Given the description of an element on the screen output the (x, y) to click on. 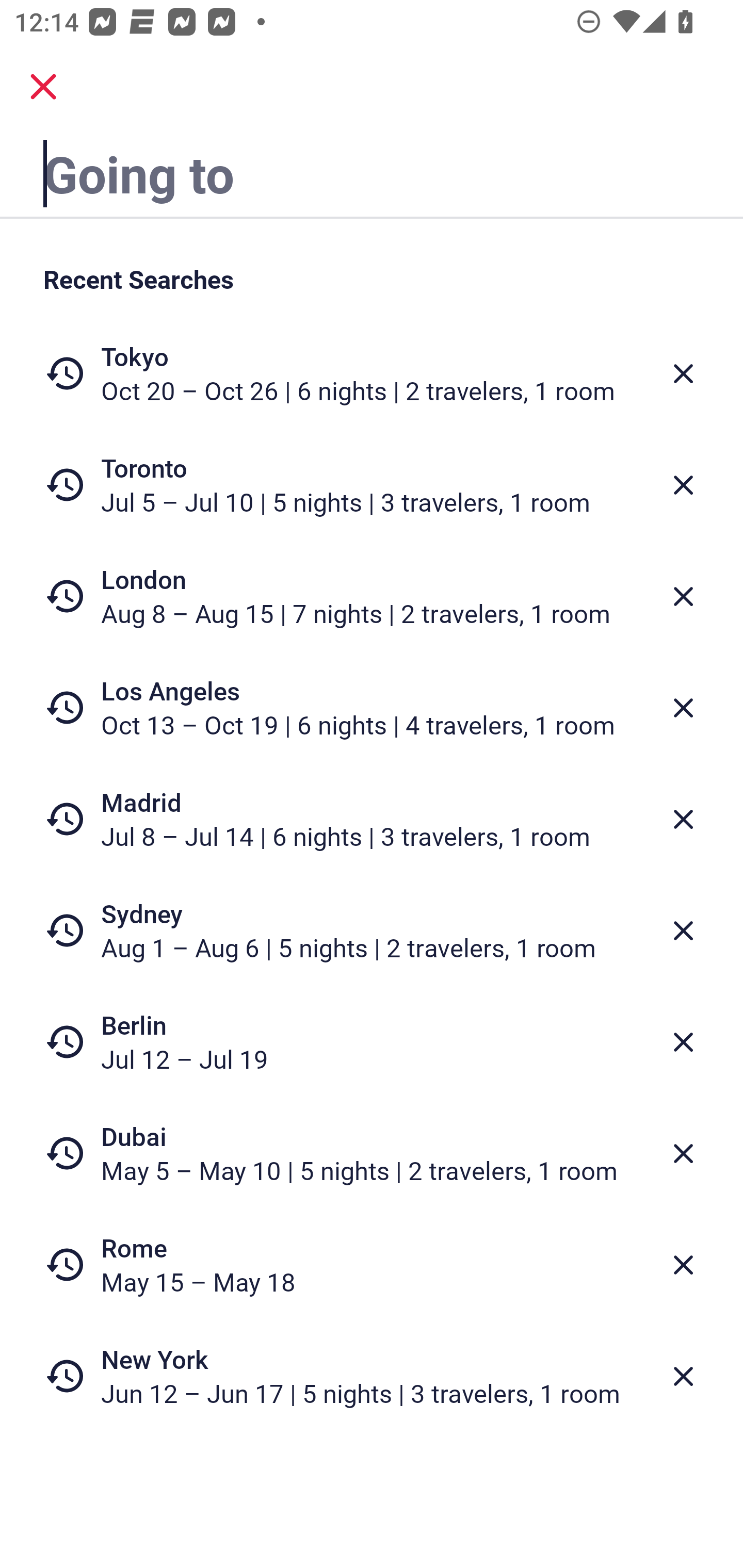
close. (43, 86)
Delete from recent searches (683, 373)
Delete from recent searches (683, 485)
Delete from recent searches (683, 596)
Delete from recent searches (683, 707)
Delete from recent searches (683, 819)
Delete from recent searches (683, 930)
Berlin Jul 12 – Jul 19 (371, 1041)
Delete from recent searches (683, 1041)
Delete from recent searches (683, 1153)
Rome May 15 – May 18 (371, 1264)
Delete from recent searches (683, 1265)
Delete from recent searches (683, 1376)
